Given the description of an element on the screen output the (x, y) to click on. 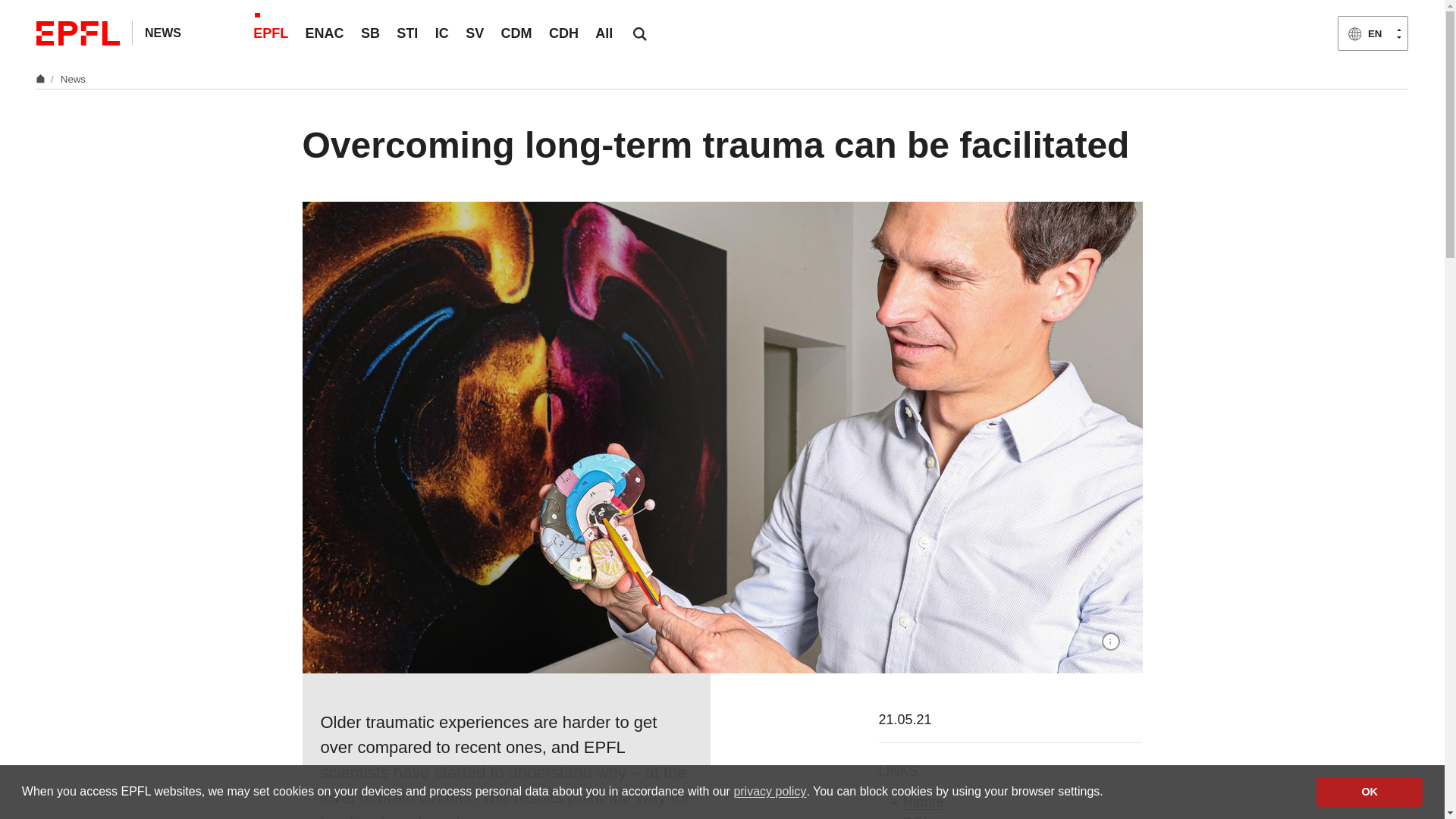
EN (1372, 32)
privacy policy (769, 791)
Home (42, 79)
NEWS (162, 32)
News (73, 79)
OK (1369, 791)
